Given the description of an element on the screen output the (x, y) to click on. 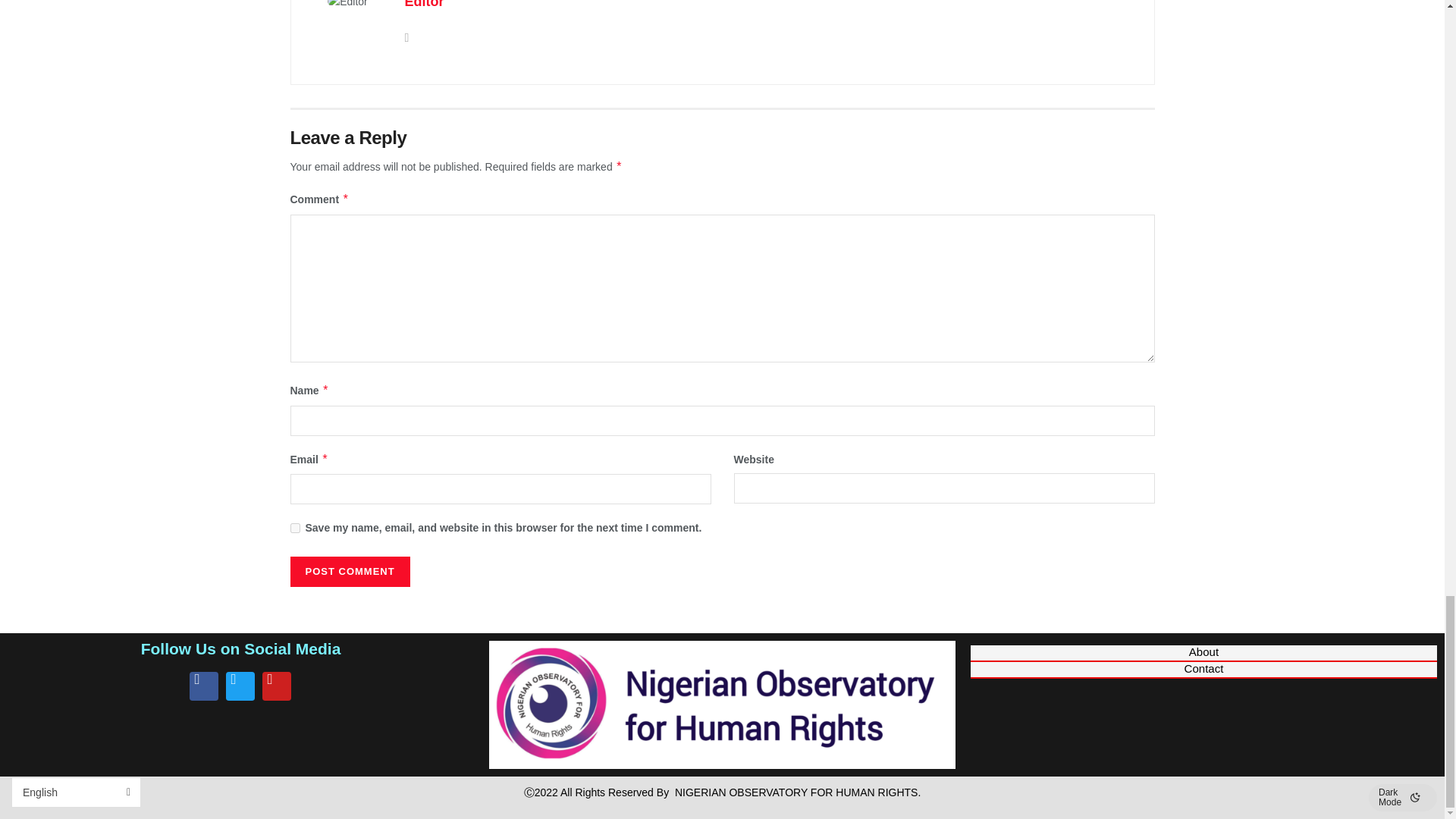
yes (294, 528)
Post Comment (349, 571)
